Given the description of an element on the screen output the (x, y) to click on. 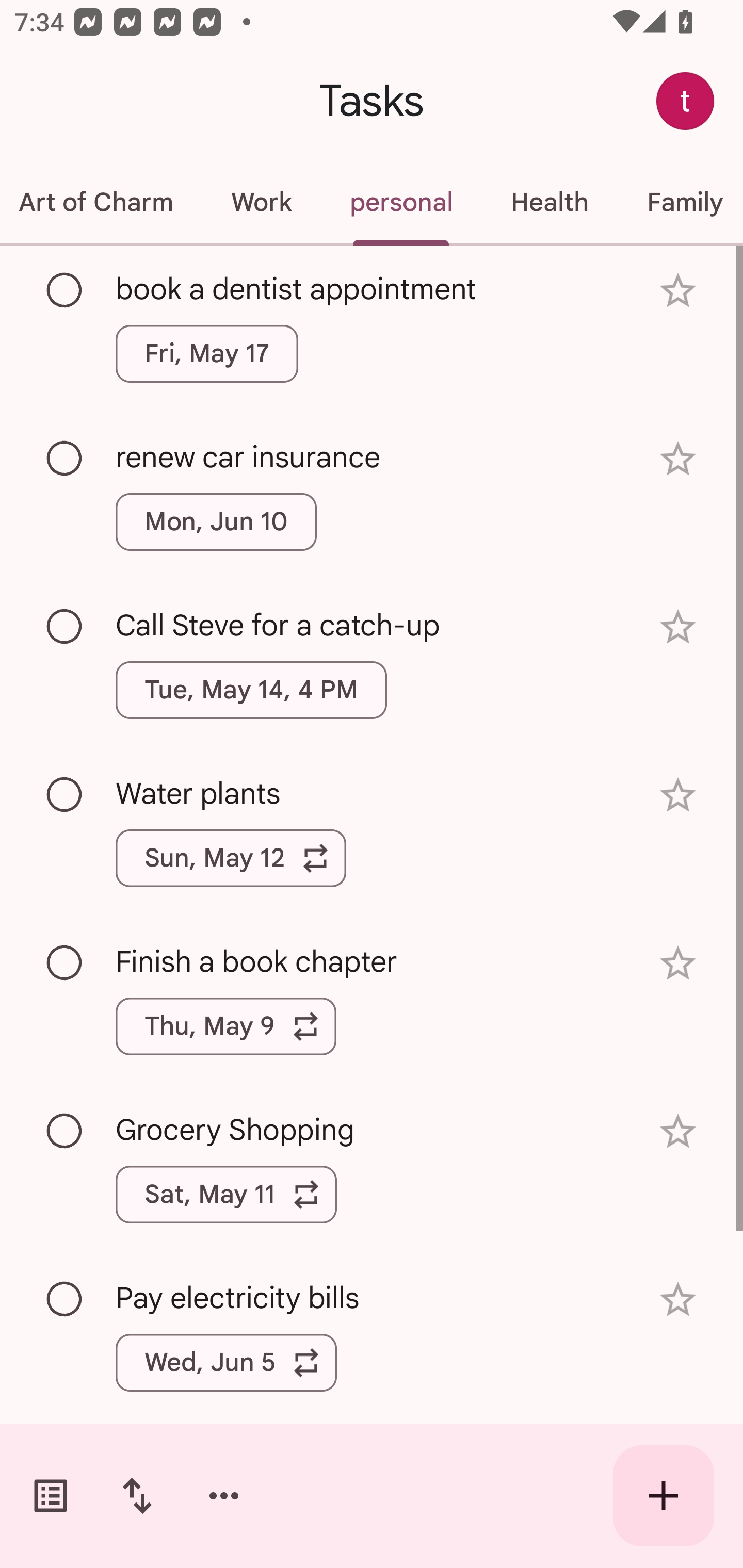
The Art of Charm (101, 202)
Work (261, 202)
Health (549, 202)
Family (680, 202)
Add star (677, 290)
Mark as complete (64, 290)
Fri, May 17 (206, 353)
Add star (677, 458)
Mark as complete (64, 459)
Mon, Jun 10 (215, 522)
Add star (677, 627)
Mark as complete (64, 627)
Tue, May 14, 4 PM (251, 689)
Add star (677, 795)
Mark as complete (64, 794)
Sun, May 12 (230, 858)
Add star (677, 963)
Mark as complete (64, 963)
Thu, May 9 (225, 1026)
Add star (677, 1131)
Mark as complete (64, 1132)
Sat, May 11 (225, 1193)
Add star (677, 1299)
Mark as complete (64, 1299)
Wed, Jun 5 (225, 1362)
Switch task lists (50, 1495)
Create new task (663, 1495)
Change sort order (136, 1495)
More options (223, 1495)
